Given the description of an element on the screen output the (x, y) to click on. 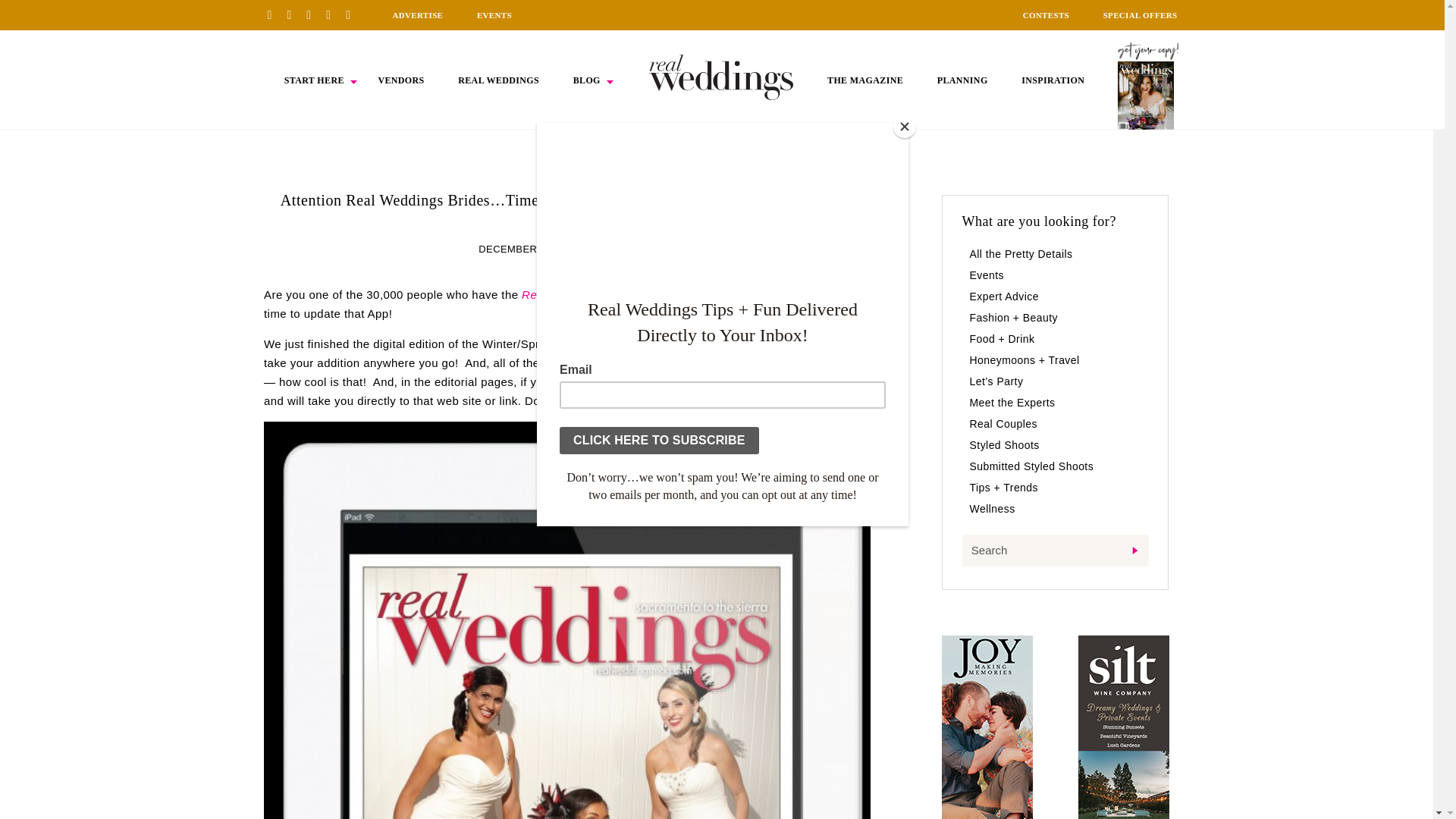
REAL WEDDINGS (498, 80)
THE MAGAZINE (864, 80)
Instagram (313, 14)
CONTESTS (1045, 14)
SPECIAL OFFERS (1140, 14)
VENDORS (400, 80)
BLOG (586, 80)
Facebook (294, 14)
EVENTS (494, 14)
HOME (721, 76)
INSPIRATION (1053, 80)
Twitter (334, 14)
PLANNING (962, 80)
Real Weddings (675, 343)
